Given the description of an element on the screen output the (x, y) to click on. 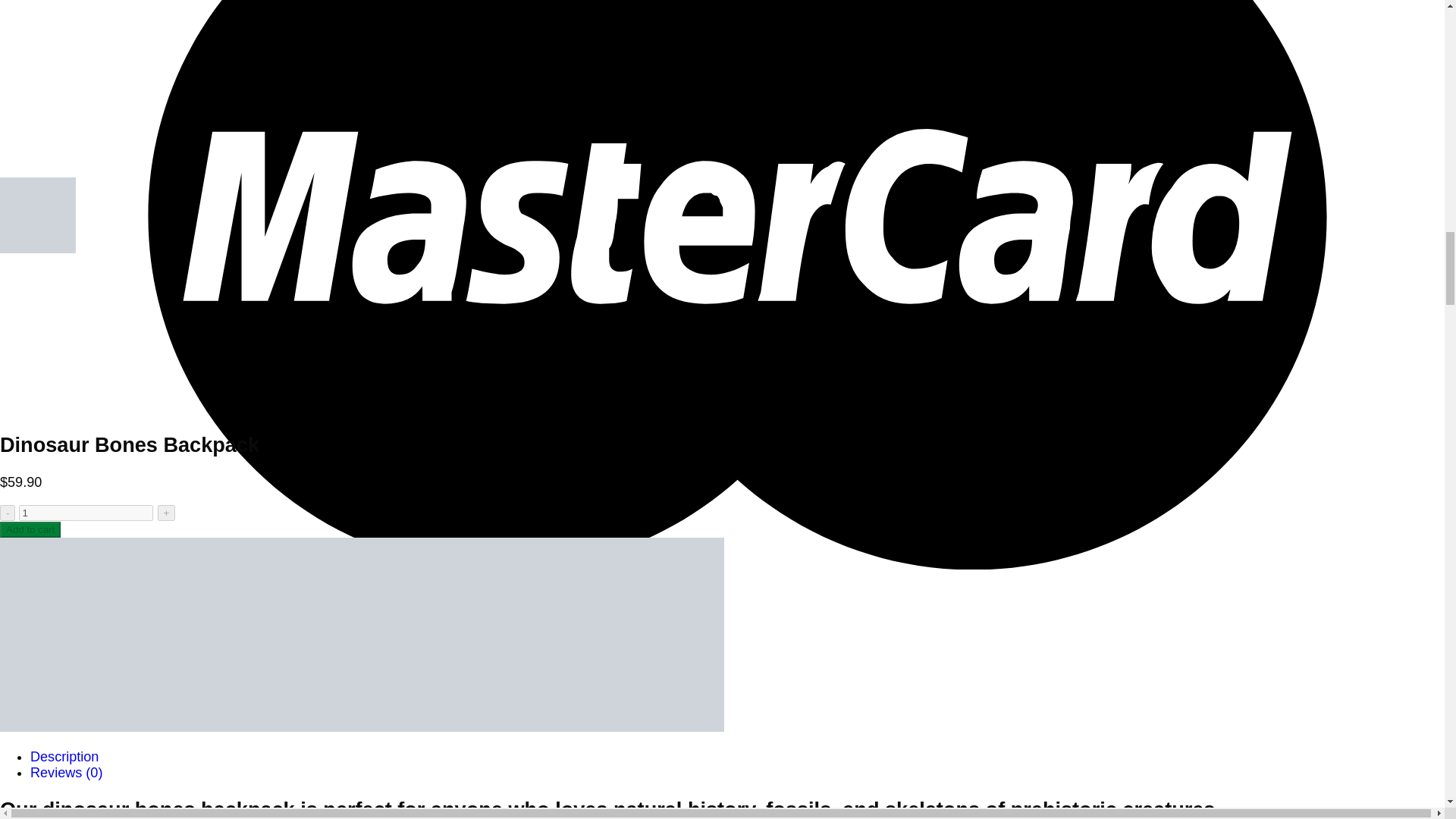
- (7, 512)
1 (85, 512)
